Given the description of an element on the screen output the (x, y) to click on. 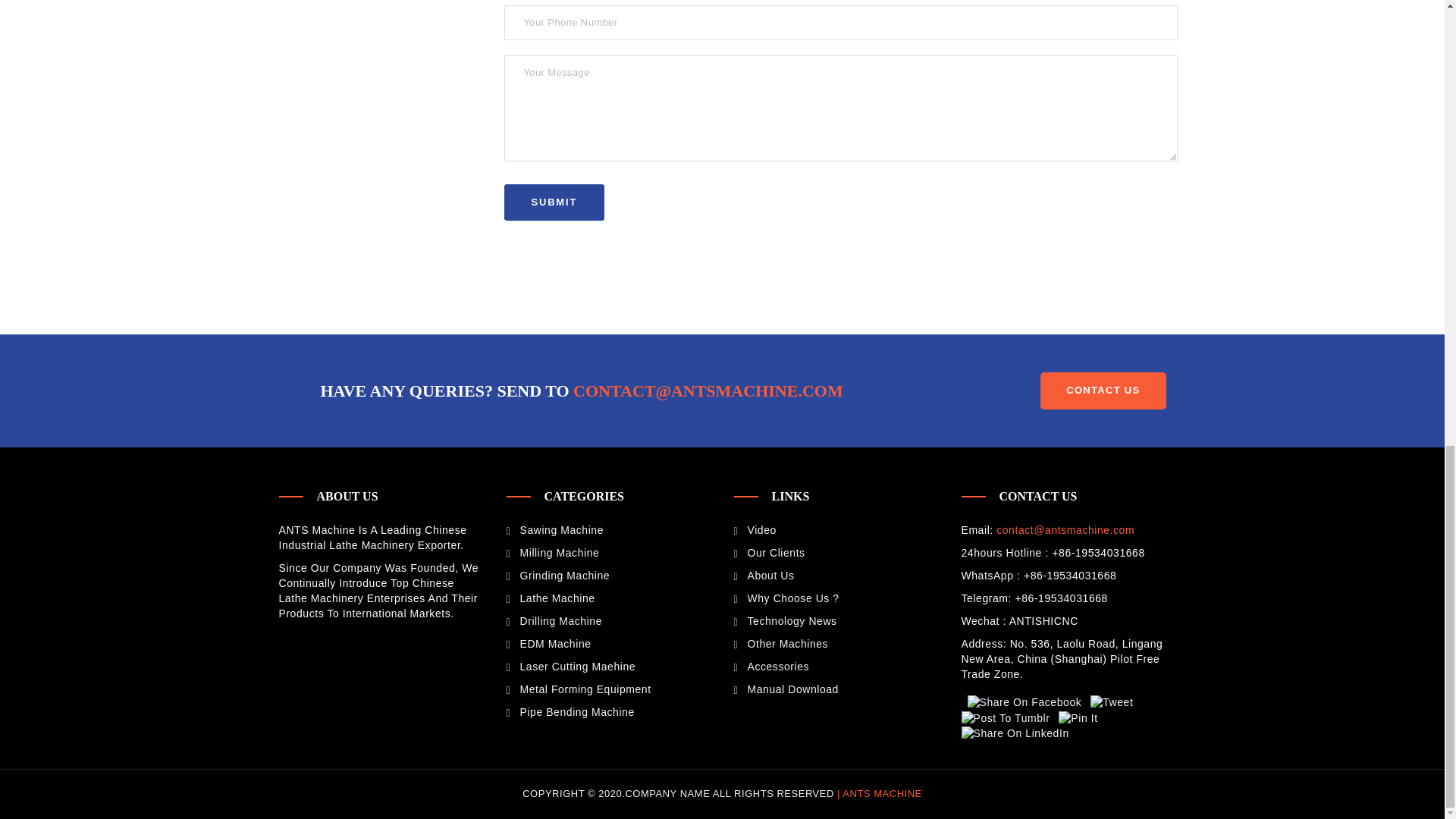
Contact Us (1103, 390)
Tweet (1108, 702)
Submit (553, 202)
Share on LinkedIn (1031, 724)
Pin it (1074, 717)
Share on Facebook (1020, 702)
Submit (553, 202)
Post to Tumblr (1050, 709)
